Given the description of an element on the screen output the (x, y) to click on. 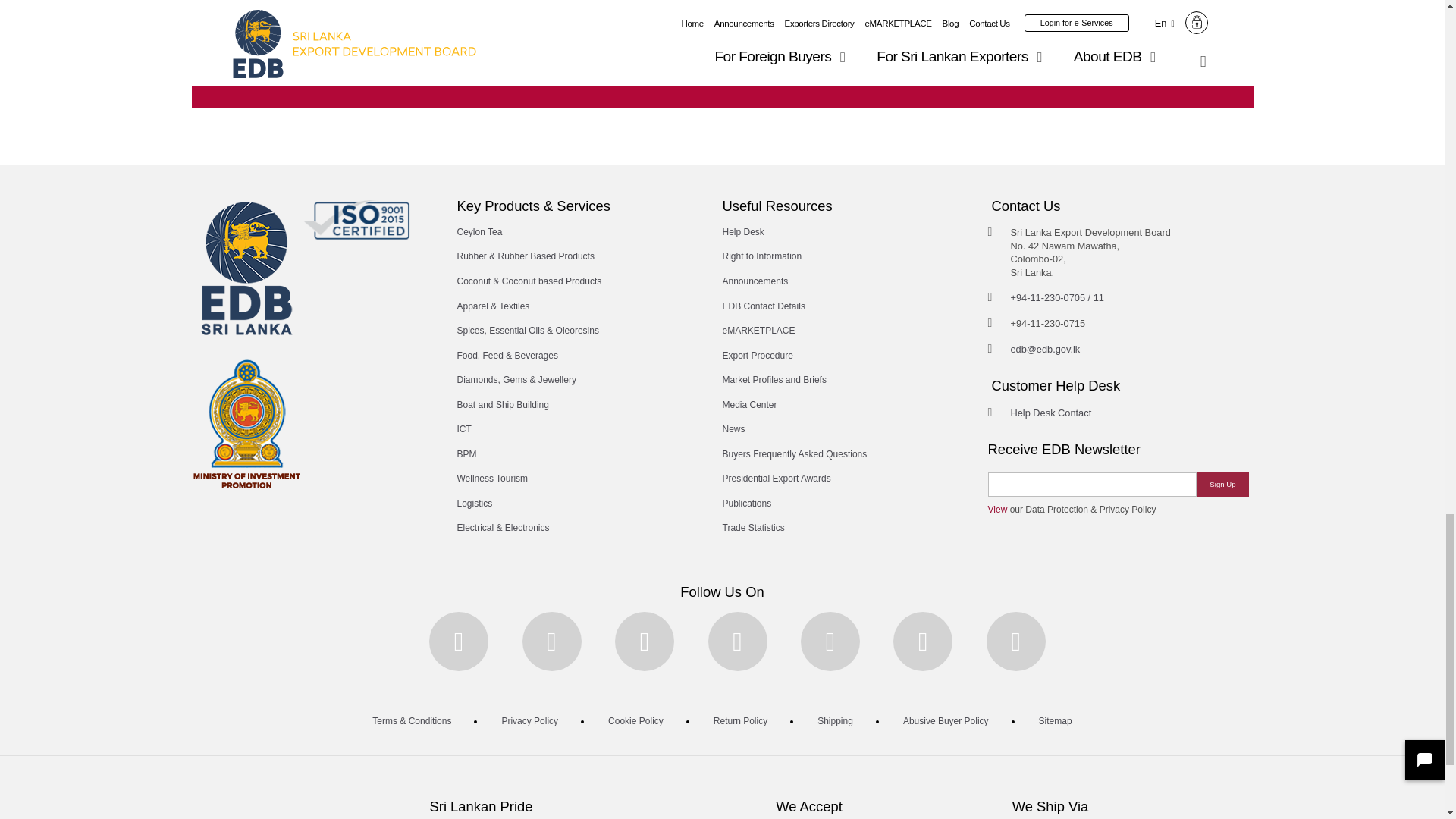
Contact Us (721, 65)
ISO Logo (356, 219)
Telephone Number (1056, 297)
